Given the description of an element on the screen output the (x, y) to click on. 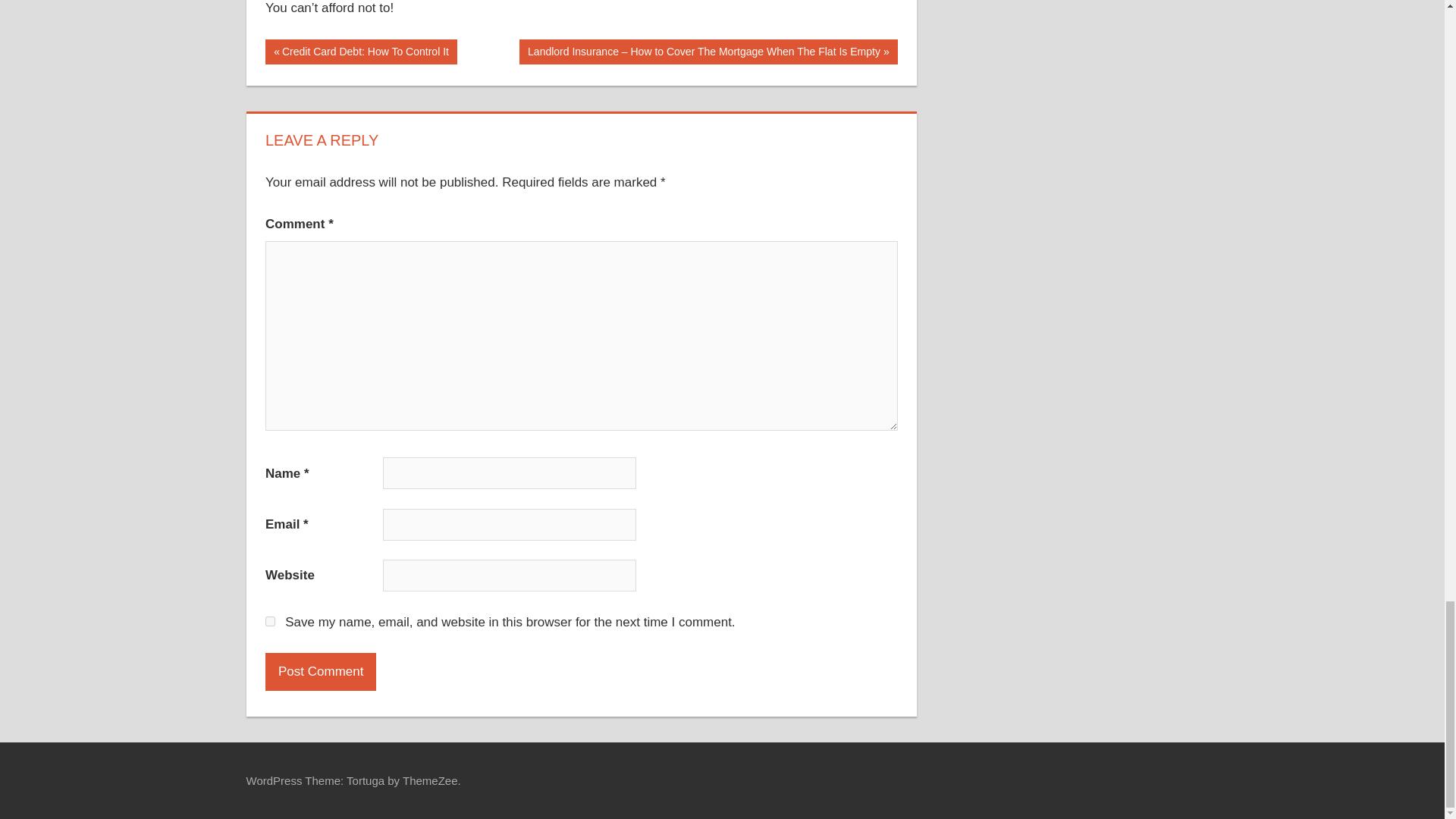
Post Comment (360, 51)
Post Comment (319, 671)
yes (319, 671)
